Given the description of an element on the screen output the (x, y) to click on. 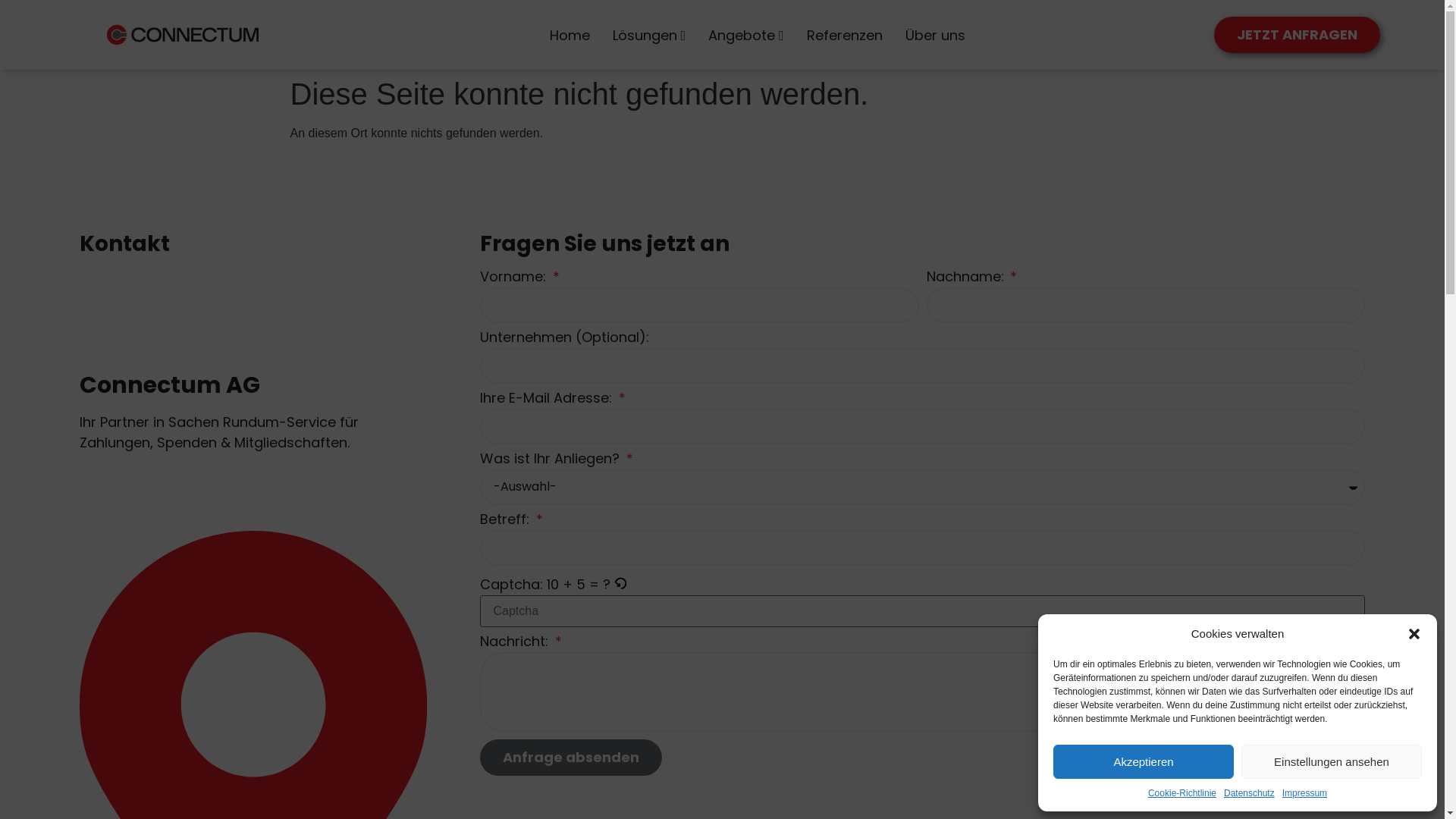
Datenschutz Element type: text (1248, 793)
Angebote Element type: text (745, 34)
Einstellungen ansehen Element type: text (1331, 761)
Akzeptieren Element type: text (1143, 761)
Cookie-Richtlinie Element type: text (1182, 793)
Home Element type: text (569, 34)
Anfrage absenden Element type: text (571, 757)
Referenzen Element type: text (844, 34)
Impressum Element type: text (1304, 793)
JETZT ANFRAGEN Element type: text (1297, 34)
Reload Captcha Element type: hover (620, 583)
